Given the description of an element on the screen output the (x, y) to click on. 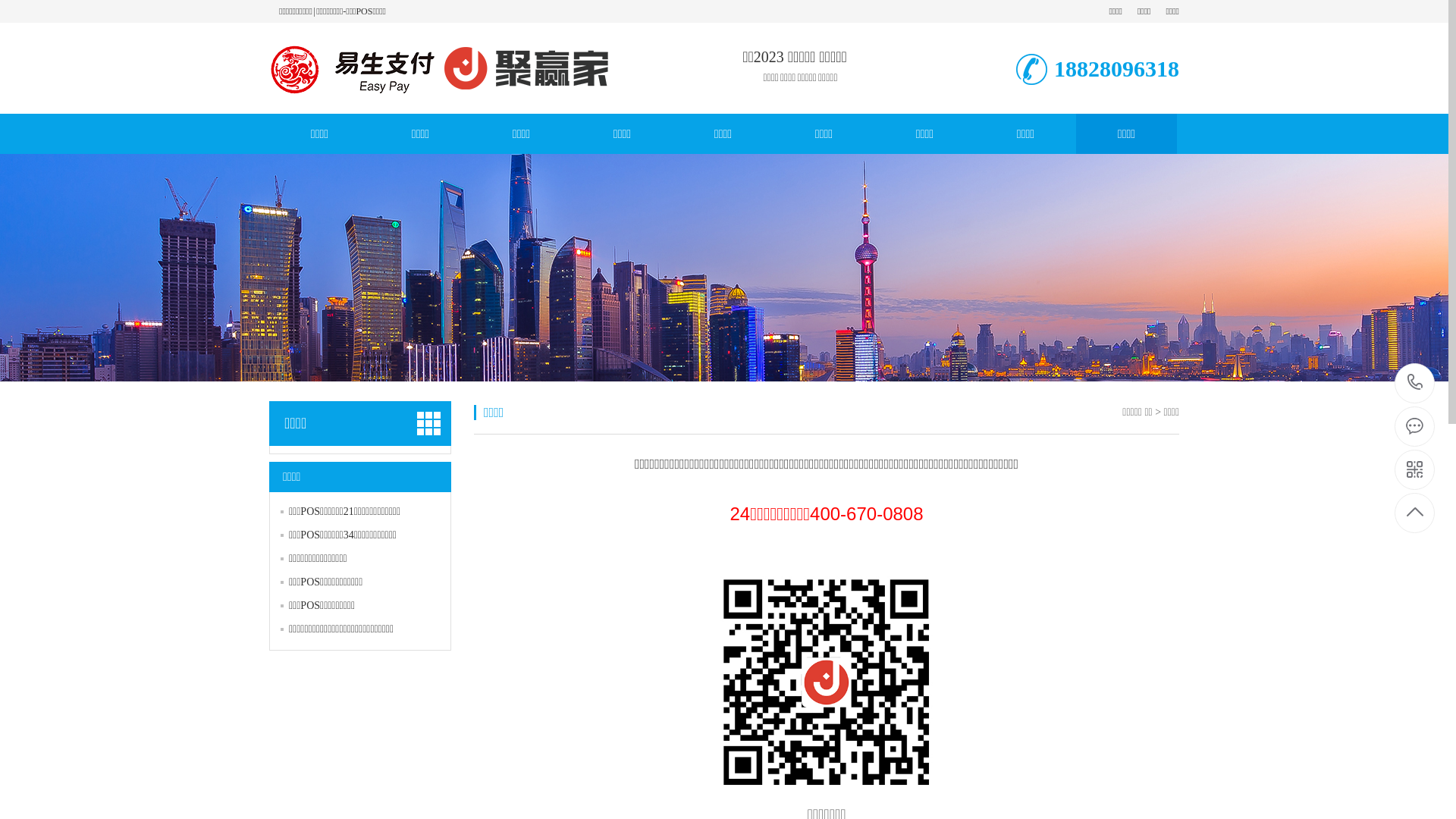
18828096318 Element type: text (1415, 383)
